Given the description of an element on the screen output the (x, y) to click on. 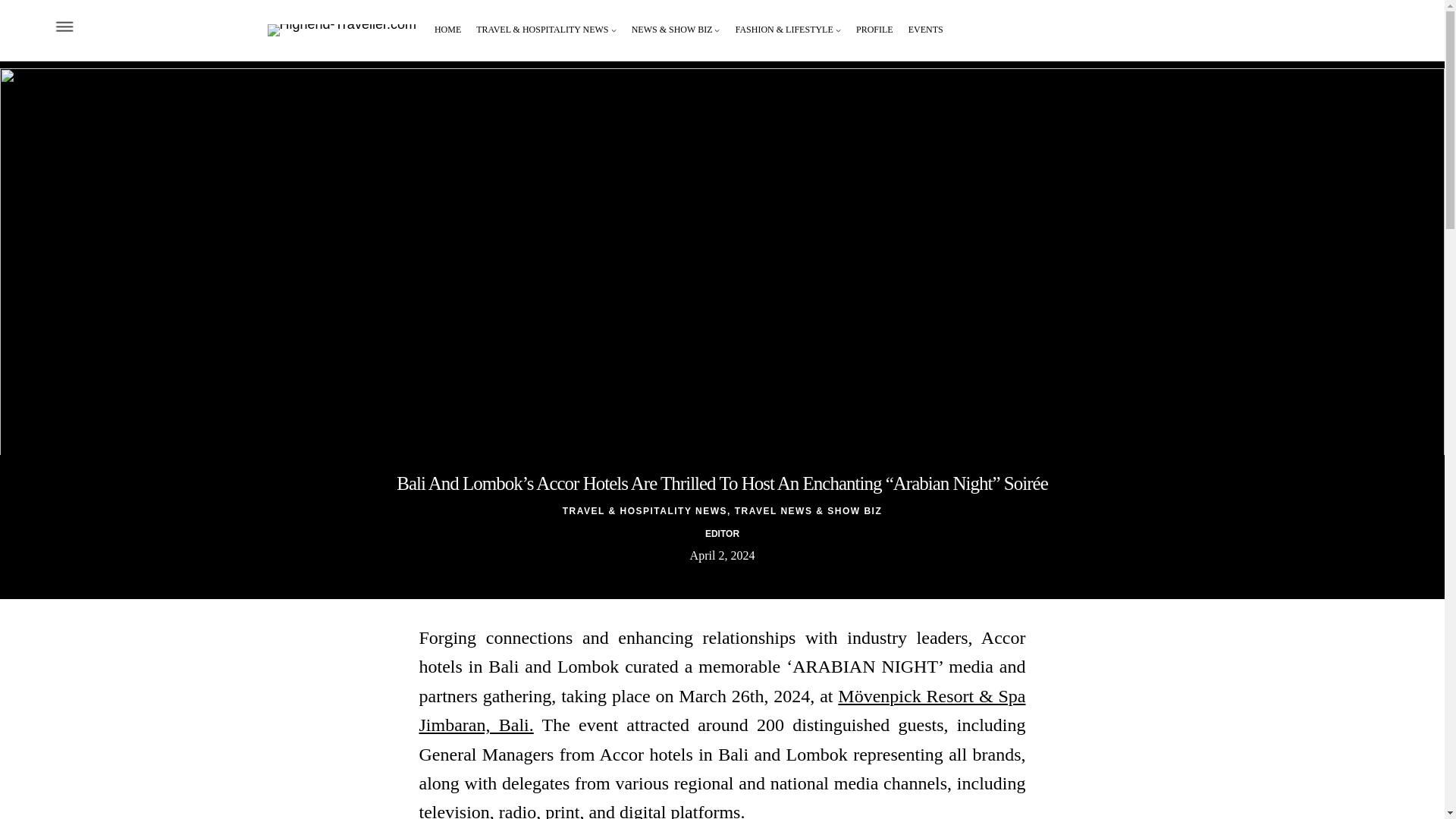
PROFILE (874, 29)
EVENTS (925, 29)
HOME (447, 29)
